Given the description of an element on the screen output the (x, y) to click on. 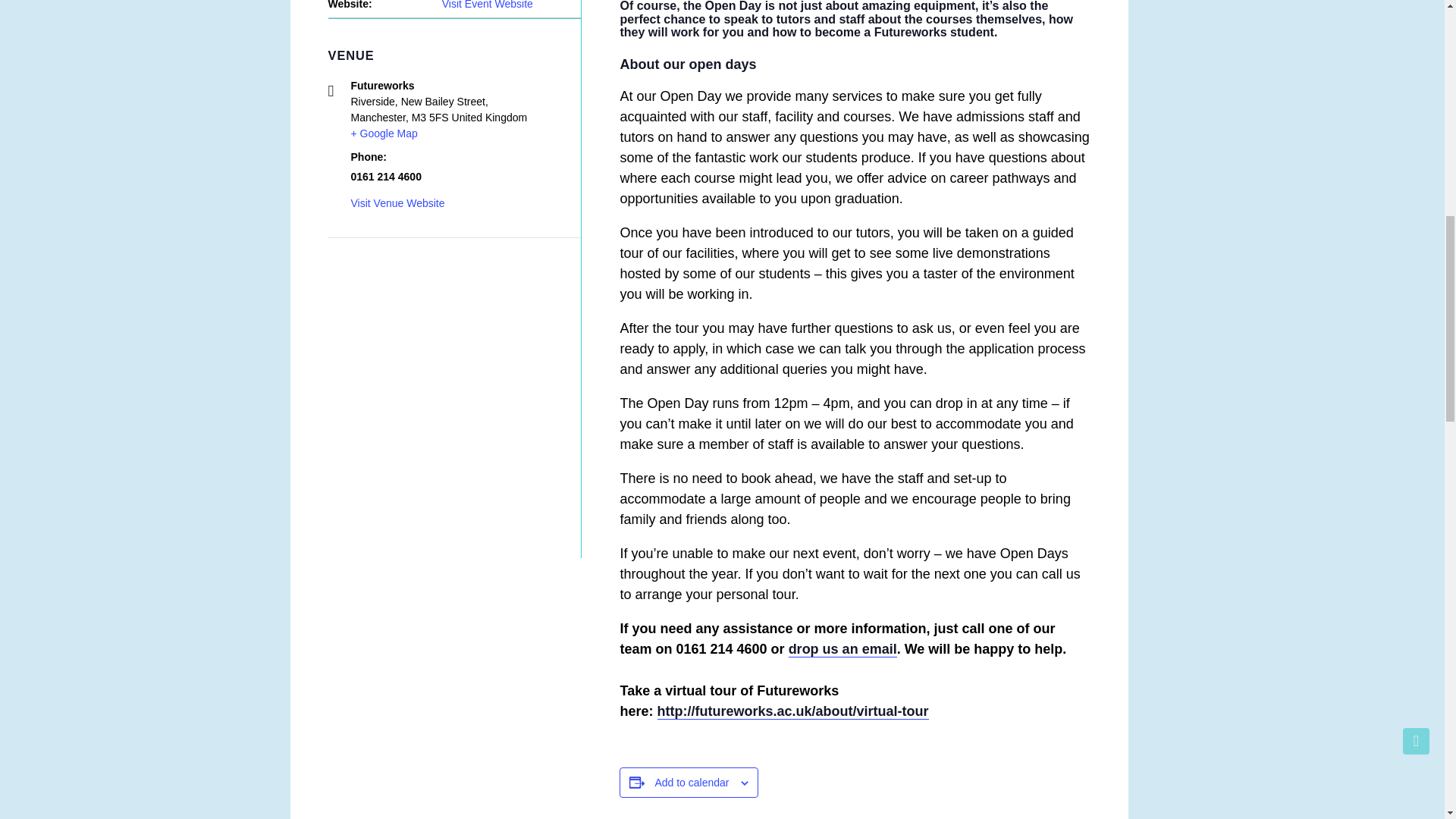
drop us an email (842, 649)
Click to view a Google Map (383, 133)
Visit Venue Website (397, 203)
Visit Event Website (487, 4)
Add to calendar (691, 782)
